Given the description of an element on the screen output the (x, y) to click on. 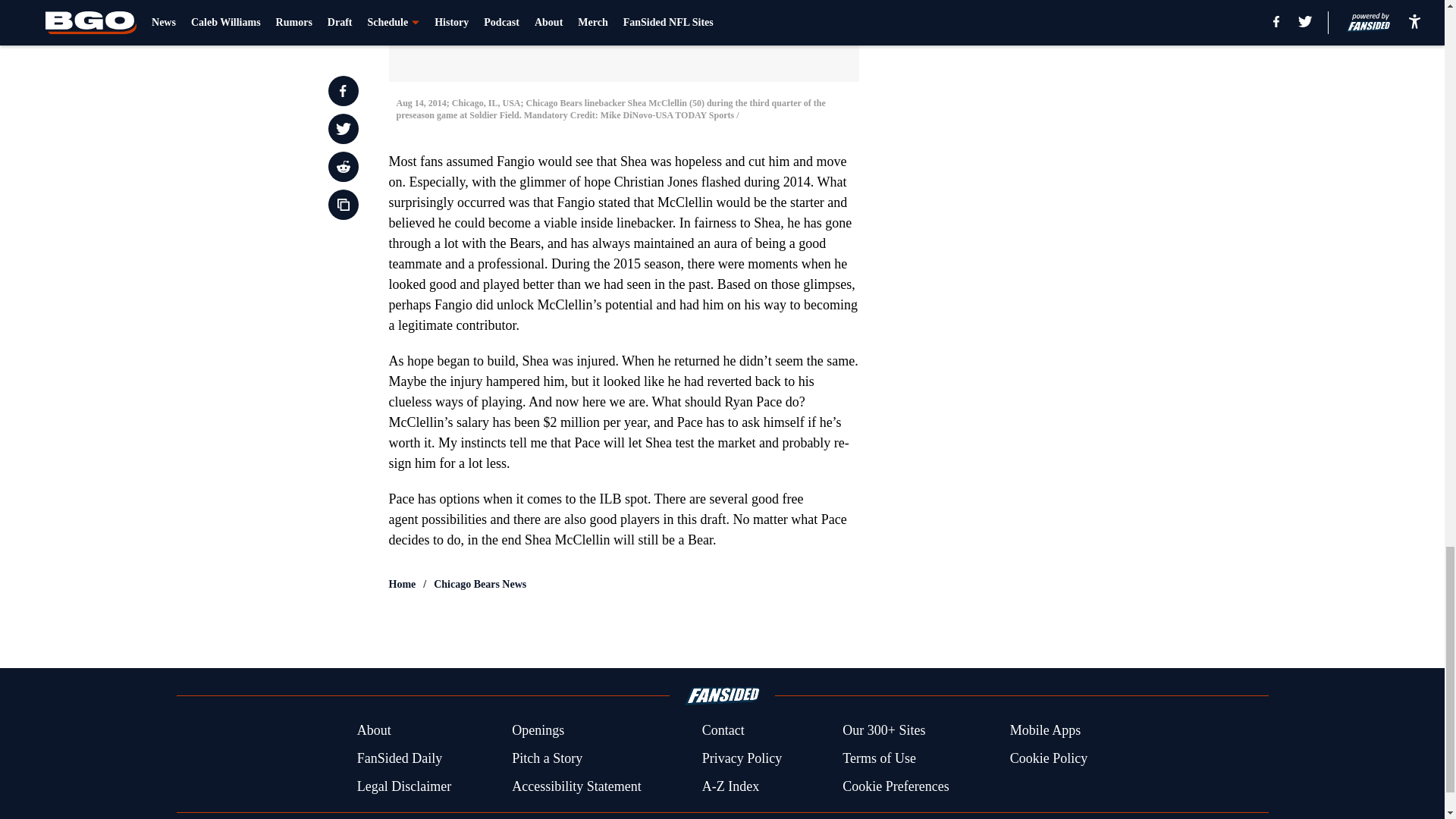
Pitch a Story (547, 757)
Chicago Bears News (479, 583)
Openings (538, 730)
Privacy Policy (742, 757)
FanSided Daily (399, 757)
About (373, 730)
Home (401, 583)
Contact (722, 730)
Mobile Apps (1045, 730)
